Given the description of an element on the screen output the (x, y) to click on. 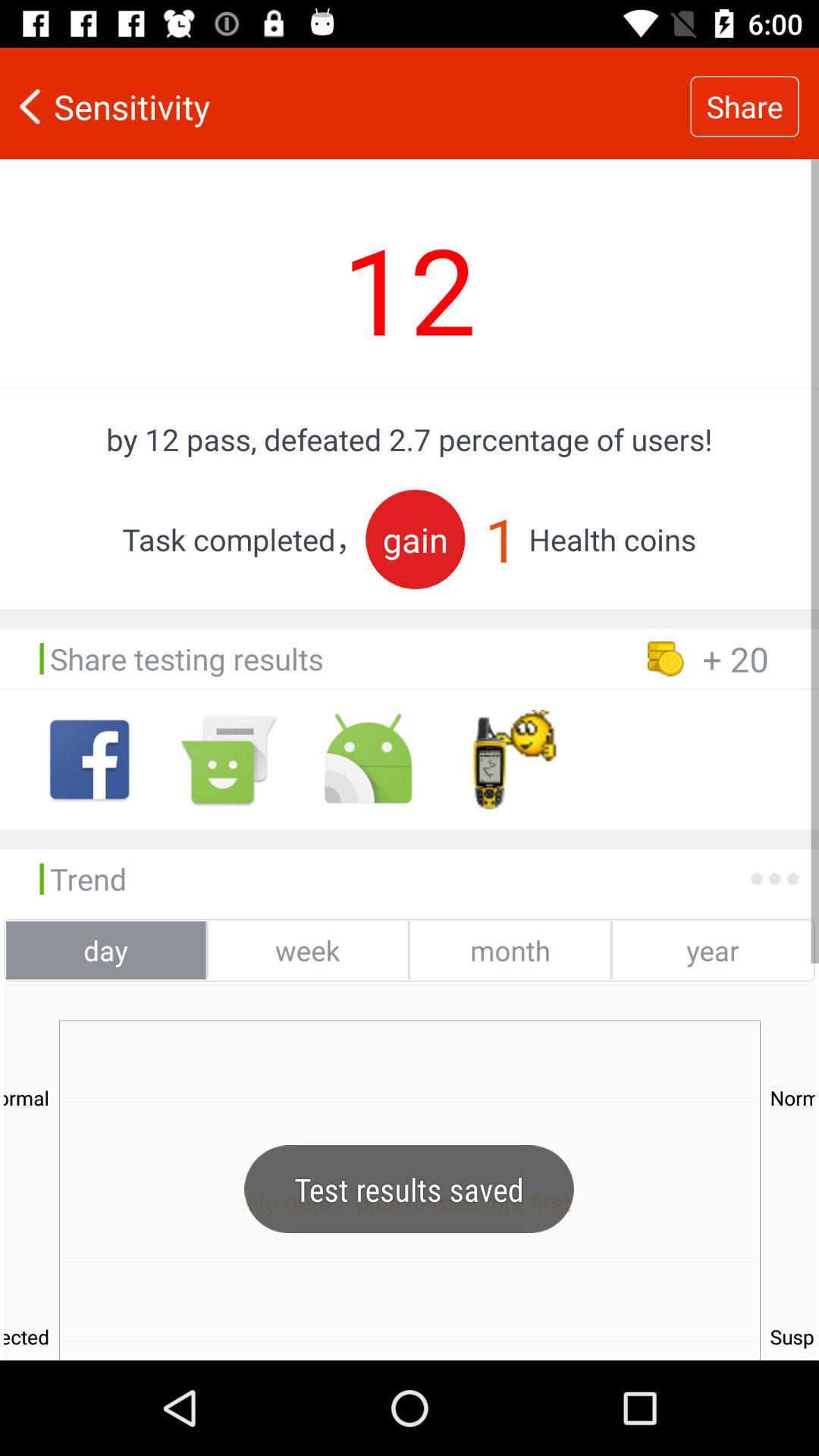
click the button on left to the text 1 on the web page (415, 539)
click on week (307, 950)
click on month (510, 950)
goto icon next to facebook icon (229, 759)
select the coin symbol before 20 (665, 658)
click on the icon right side of message icon (367, 759)
